Given the description of an element on the screen output the (x, y) to click on. 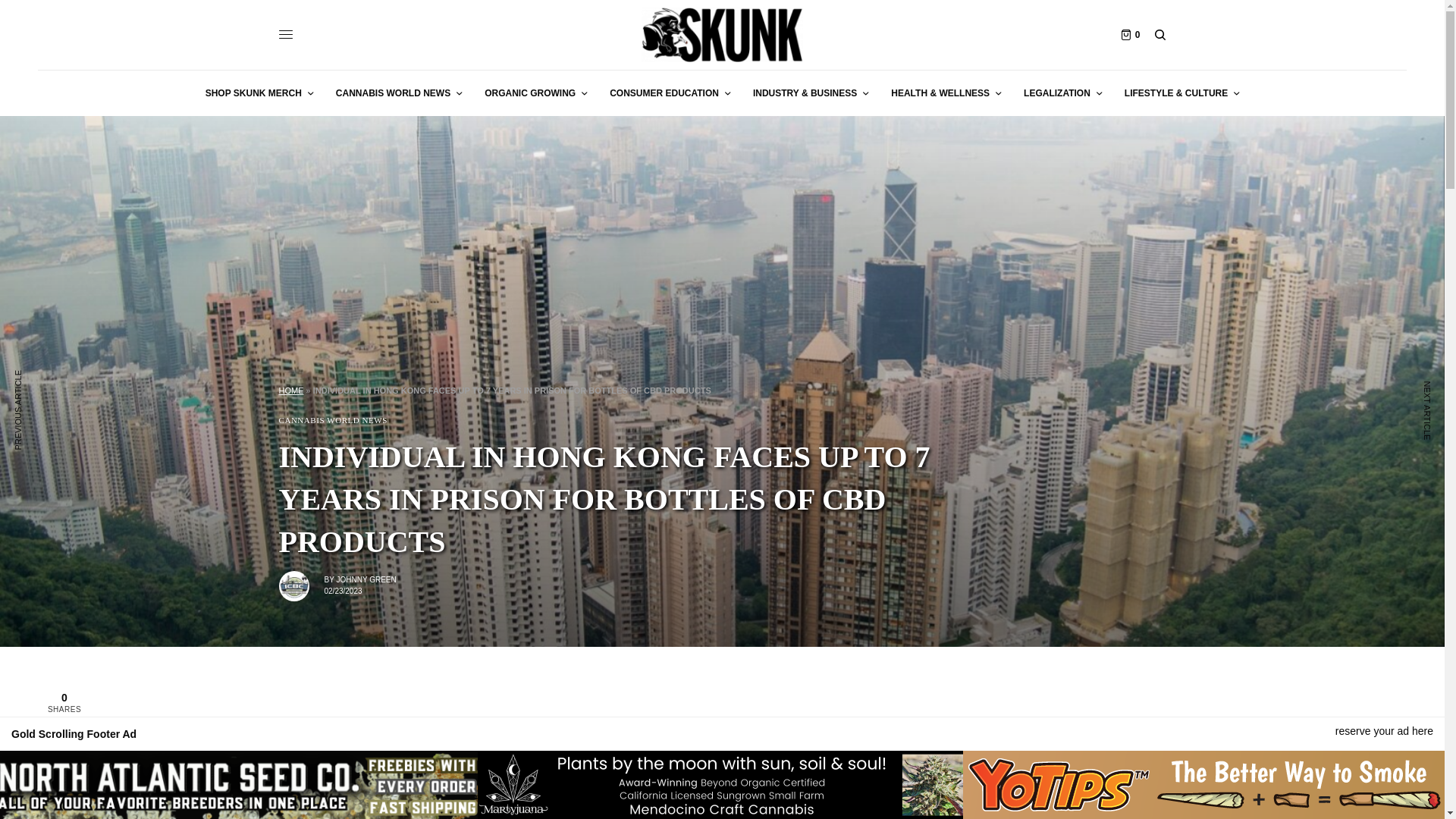
CONSUMER EDUCATION (670, 93)
Skunk Global (722, 34)
SHOP SKUNK MERCH (259, 93)
ORGANIC GROWING (535, 93)
CANNABIS WORLD NEWS (398, 93)
LEGALIZATION (1062, 93)
Posts by Johnny Green (366, 579)
